Given the description of an element on the screen output the (x, y) to click on. 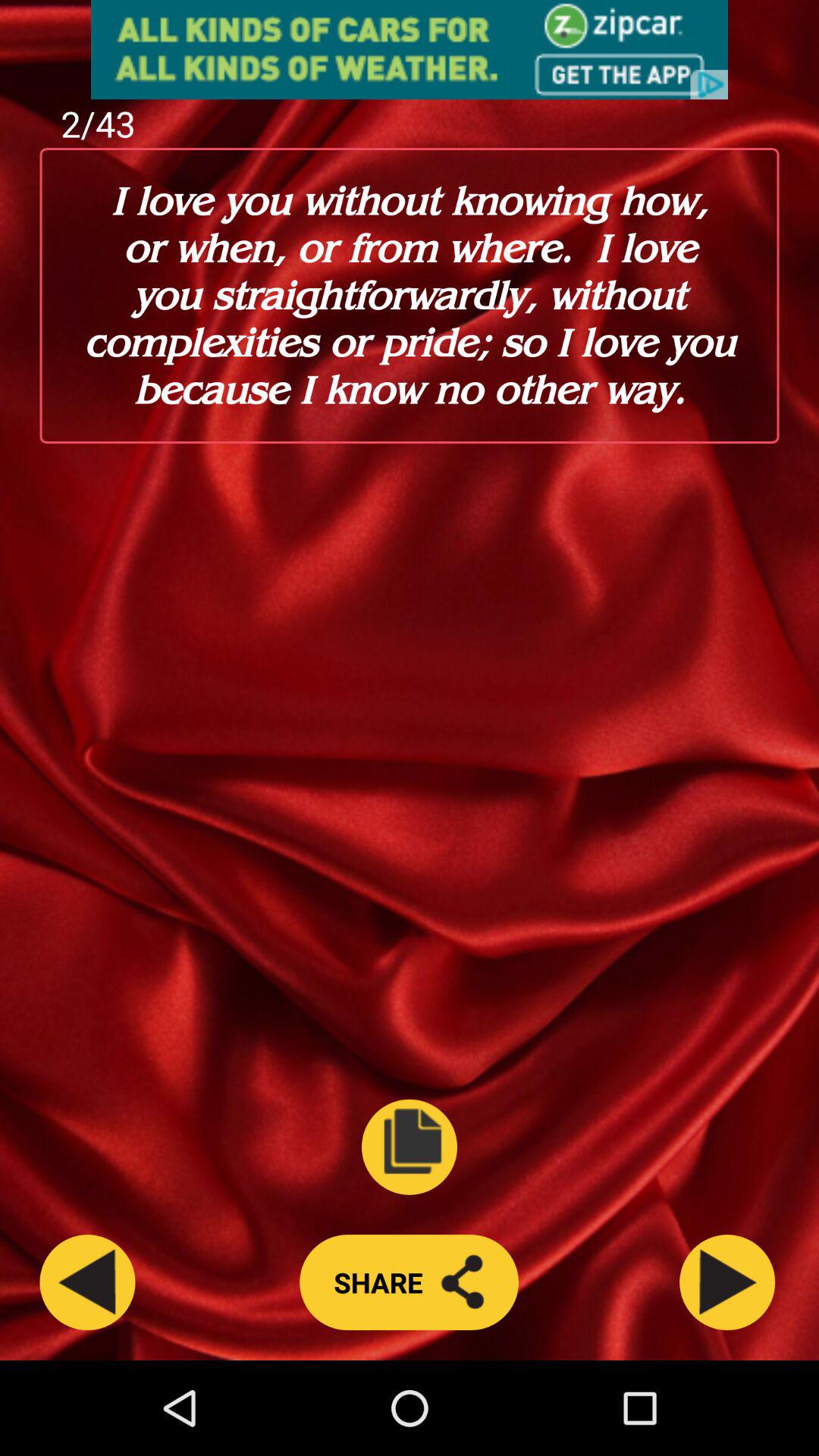
go to advertisement link (409, 49)
